Given the description of an element on the screen output the (x, y) to click on. 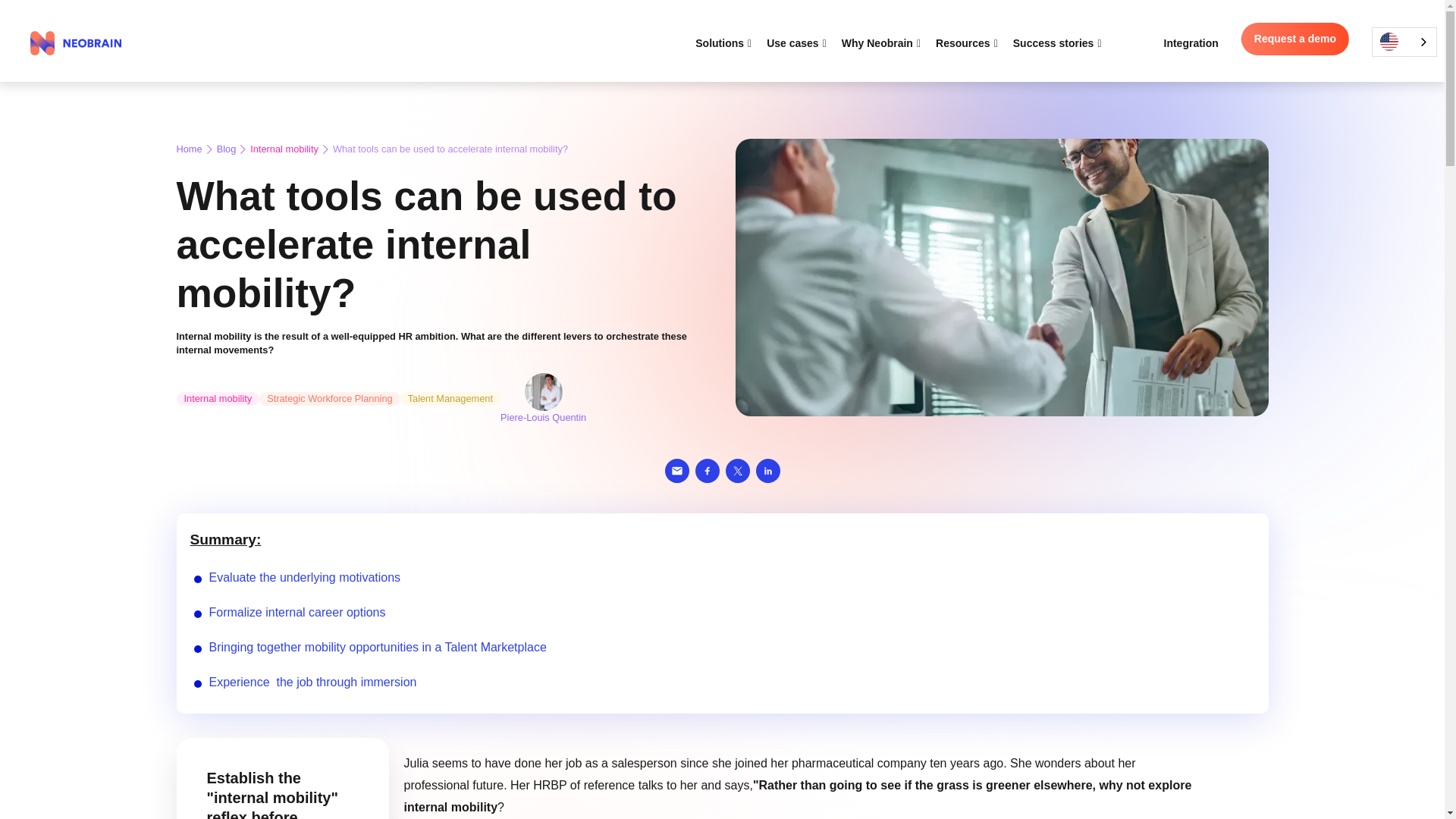
Blog (225, 148)
Integration (1190, 42)
Request a demo (1295, 38)
Home (189, 148)
